Given the description of an element on the screen output the (x, y) to click on. 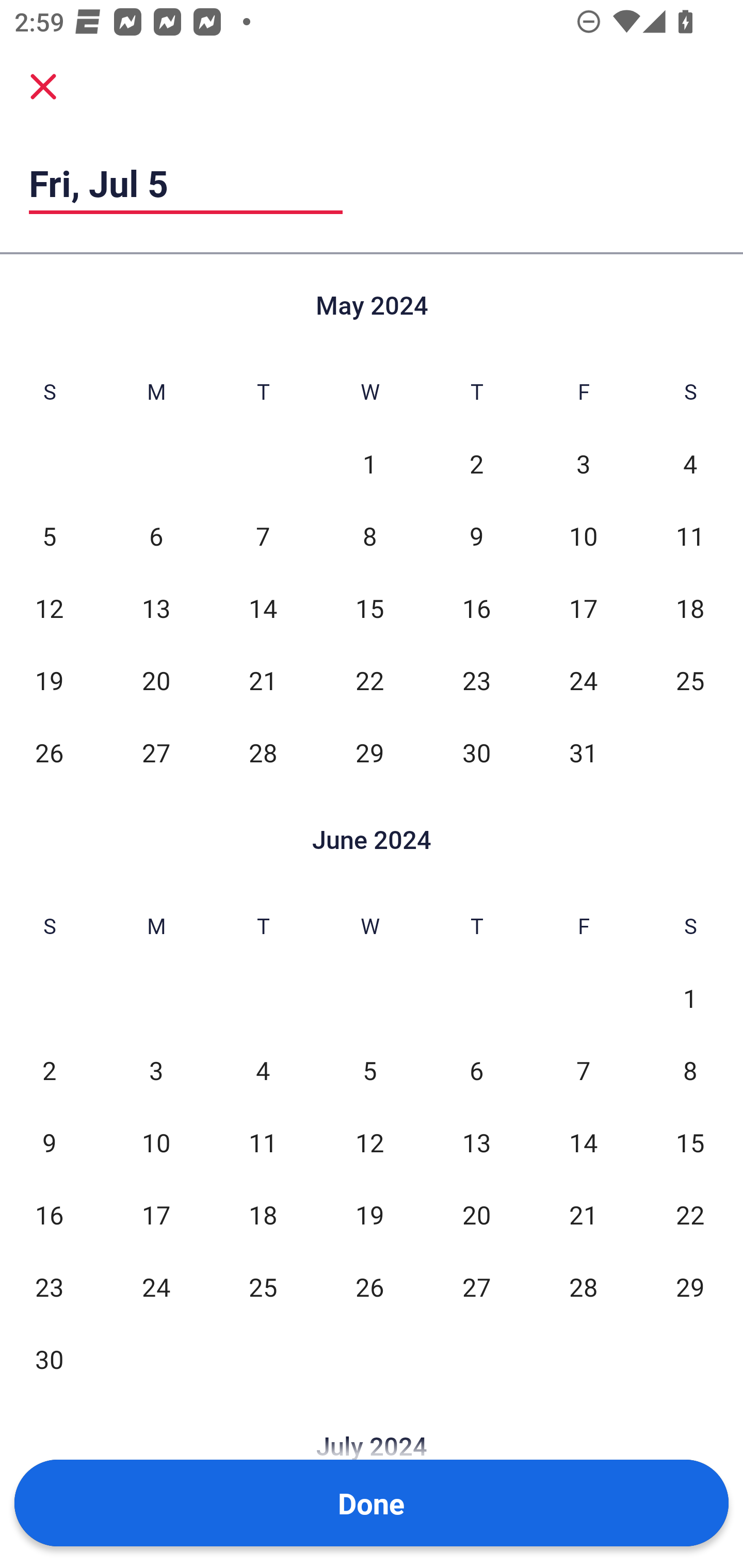
Cancel (43, 86)
Fri, Jul 5 (185, 182)
1 Wed, May 1, Not Selected (369, 464)
2 Thu, May 2, Not Selected (476, 464)
3 Fri, May 3, Not Selected (583, 464)
4 Sat, May 4, Not Selected (690, 464)
5 Sun, May 5, Not Selected (49, 536)
6 Mon, May 6, Not Selected (156, 536)
7 Tue, May 7, Not Selected (263, 536)
8 Wed, May 8, Not Selected (369, 536)
9 Thu, May 9, Not Selected (476, 536)
10 Fri, May 10, Not Selected (583, 536)
11 Sat, May 11, Not Selected (690, 536)
12 Sun, May 12, Not Selected (49, 608)
13 Mon, May 13, Not Selected (156, 608)
14 Tue, May 14, Not Selected (263, 608)
15 Wed, May 15, Not Selected (369, 608)
16 Thu, May 16, Not Selected (476, 608)
17 Fri, May 17, Not Selected (583, 608)
18 Sat, May 18, Not Selected (690, 608)
19 Sun, May 19, Not Selected (49, 680)
20 Mon, May 20, Not Selected (156, 680)
21 Tue, May 21, Not Selected (263, 680)
22 Wed, May 22, Not Selected (369, 680)
23 Thu, May 23, Not Selected (476, 680)
24 Fri, May 24, Not Selected (583, 680)
25 Sat, May 25, Not Selected (690, 680)
26 Sun, May 26, Not Selected (49, 752)
27 Mon, May 27, Not Selected (156, 752)
28 Tue, May 28, Not Selected (263, 752)
29 Wed, May 29, Not Selected (369, 752)
30 Thu, May 30, Not Selected (476, 752)
31 Fri, May 31, Not Selected (583, 752)
1 Sat, Jun 1, Not Selected (690, 997)
2 Sun, Jun 2, Not Selected (49, 1070)
3 Mon, Jun 3, Not Selected (156, 1070)
4 Tue, Jun 4, Not Selected (263, 1070)
5 Wed, Jun 5, Not Selected (369, 1070)
6 Thu, Jun 6, Not Selected (476, 1070)
7 Fri, Jun 7, Not Selected (583, 1070)
8 Sat, Jun 8, Not Selected (690, 1070)
9 Sun, Jun 9, Not Selected (49, 1143)
10 Mon, Jun 10, Not Selected (156, 1143)
11 Tue, Jun 11, Not Selected (263, 1143)
12 Wed, Jun 12, Not Selected (369, 1143)
13 Thu, Jun 13, Not Selected (476, 1143)
14 Fri, Jun 14, Not Selected (583, 1143)
15 Sat, Jun 15, Not Selected (690, 1143)
16 Sun, Jun 16, Not Selected (49, 1215)
17 Mon, Jun 17, Not Selected (156, 1215)
18 Tue, Jun 18, Not Selected (263, 1215)
19 Wed, Jun 19, Not Selected (369, 1215)
20 Thu, Jun 20, Not Selected (476, 1215)
21 Fri, Jun 21, Not Selected (583, 1215)
22 Sat, Jun 22, Not Selected (690, 1215)
23 Sun, Jun 23, Not Selected (49, 1287)
24 Mon, Jun 24, Not Selected (156, 1287)
25 Tue, Jun 25, Not Selected (263, 1287)
26 Wed, Jun 26, Not Selected (369, 1287)
27 Thu, Jun 27, Not Selected (476, 1287)
28 Fri, Jun 28, Not Selected (583, 1287)
29 Sat, Jun 29, Not Selected (690, 1287)
30 Sun, Jun 30, Not Selected (49, 1359)
Done Button Done (371, 1502)
